Given the description of an element on the screen output the (x, y) to click on. 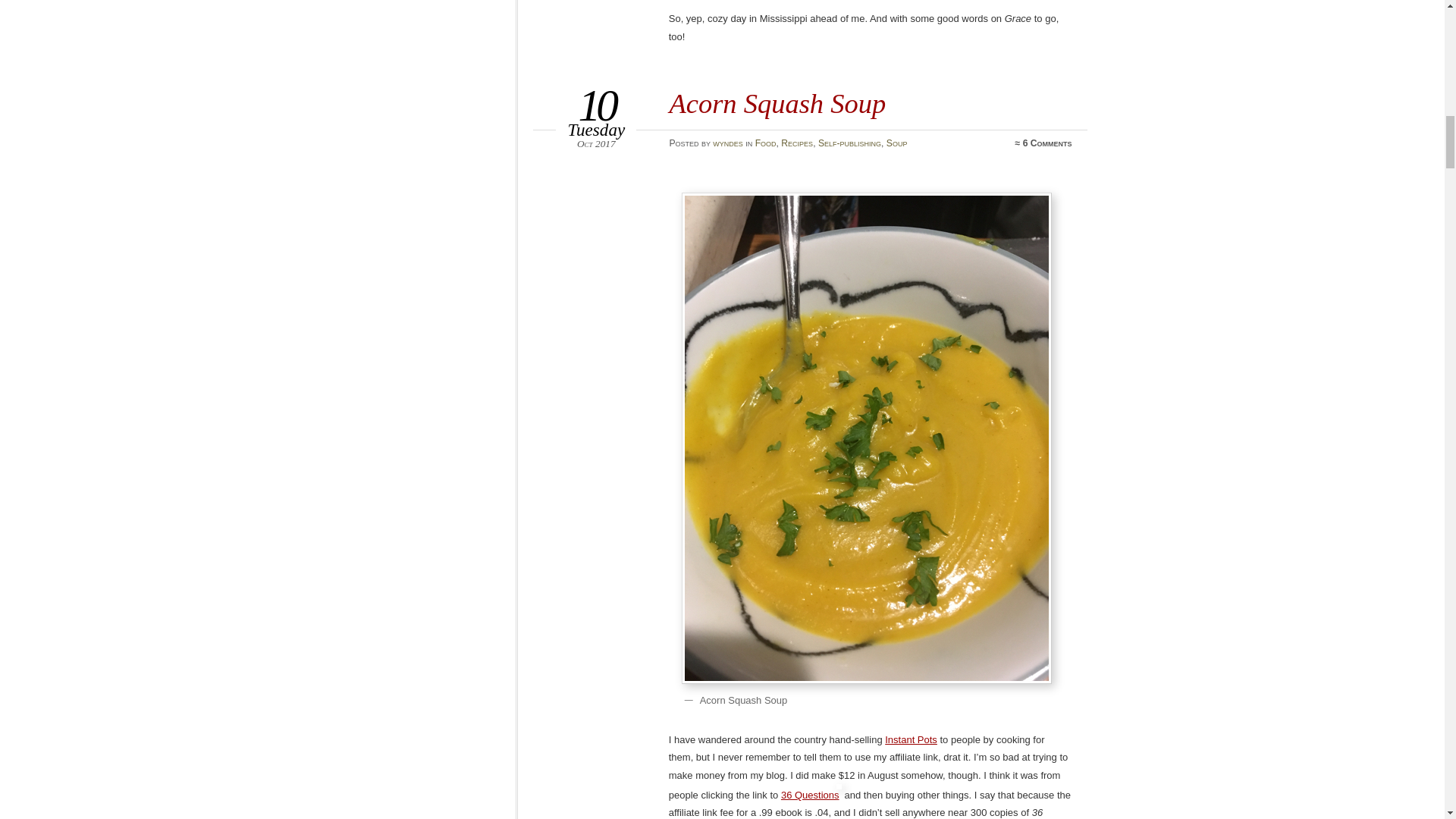
View all posts by wyndes (727, 143)
36 Questions (810, 794)
Recipes (796, 143)
Food (765, 143)
Acorn Squash Soup (776, 102)
wyndes (727, 143)
6 Comments (1047, 143)
Soup (896, 143)
Instant Pots (911, 739)
Self-publishing (849, 143)
